Given the description of an element on the screen output the (x, y) to click on. 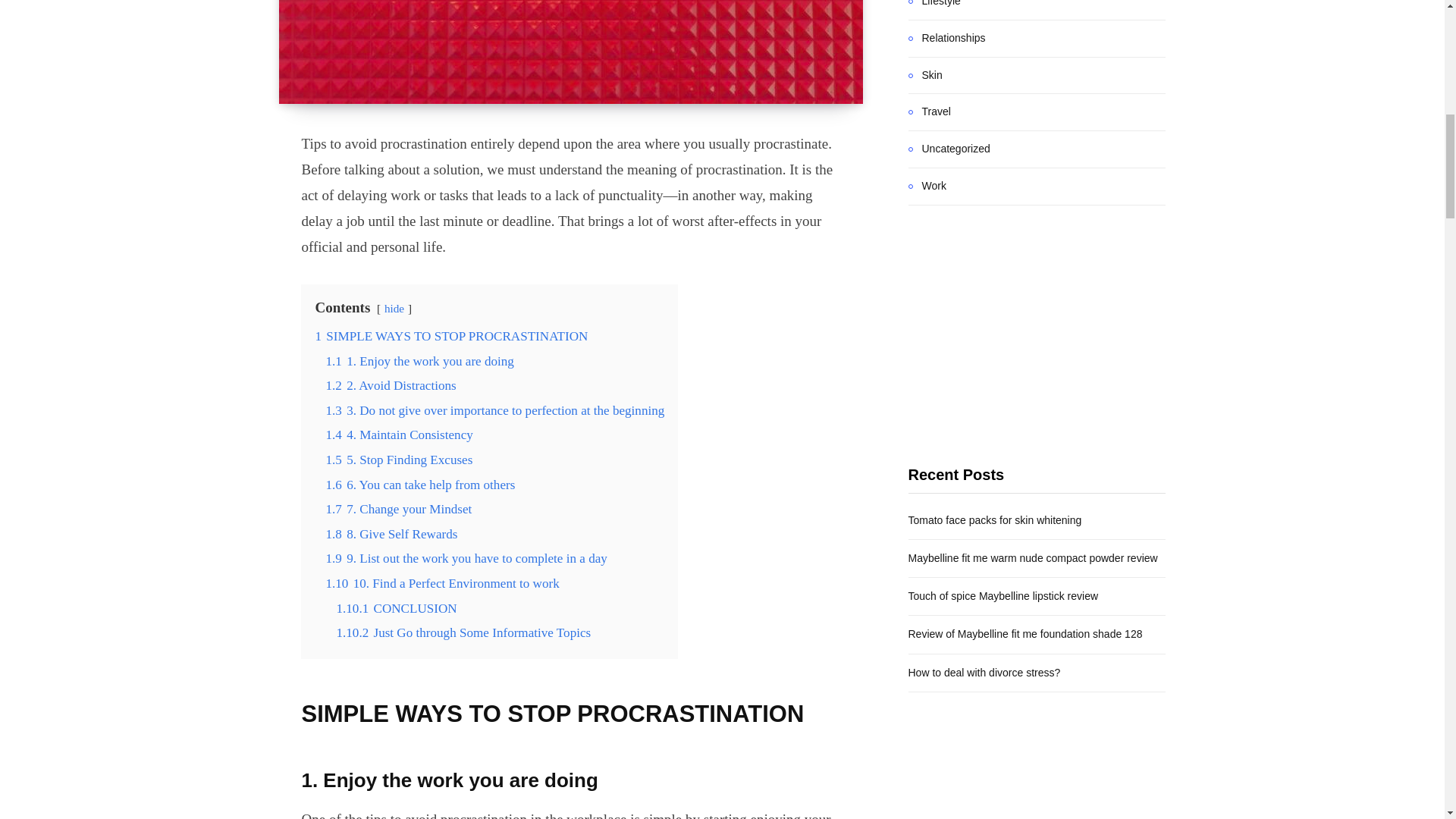
1.10.2 Just Go through Some Informative Topics (463, 632)
1.8 8. Give Self Rewards (390, 534)
1.4 4. Maintain Consistency (397, 434)
1.9 9. List out the work you have to complete in a day (465, 558)
1.5 5. Stop Finding Excuses (397, 459)
1.6 6. You can take help from others (419, 484)
1 SIMPLE WAYS TO STOP PROCRASTINATION (451, 336)
TIPS TO AVOID PROCRASTINATION TO WIN LIFE (571, 52)
1.1 1. Enjoy the work you are doing (418, 360)
hide (394, 308)
1.10 10. Find a Perfect Environment to work (441, 583)
1.2 2. Avoid Distractions (389, 385)
1.7 7. Change your Mindset (397, 509)
1.10.1 CONCLUSION (396, 608)
